Given the description of an element on the screen output the (x, y) to click on. 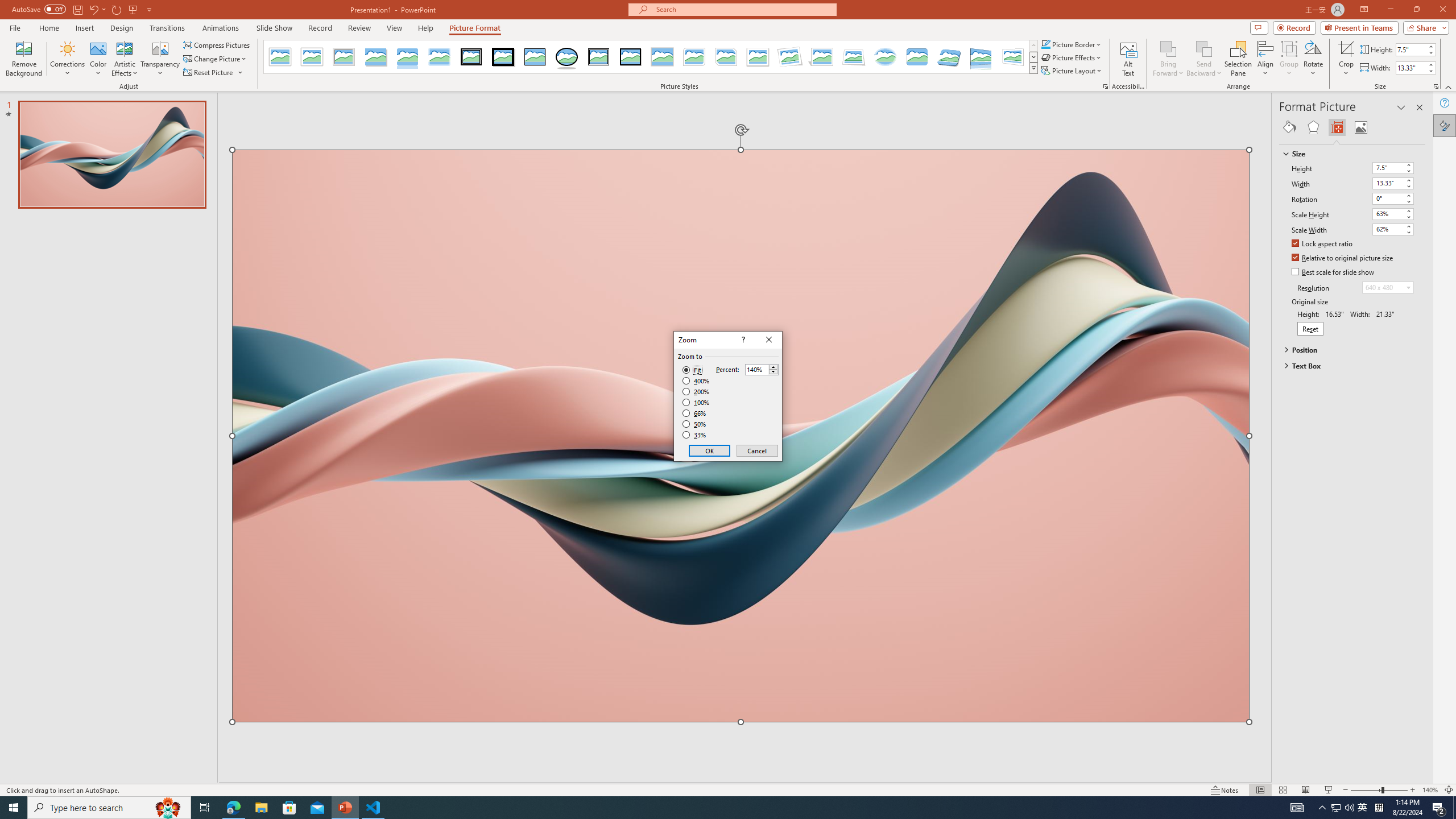
Double Frame, Black (471, 56)
Picture Border (1071, 44)
Change Picture (216, 58)
Relative to original picture size (1342, 258)
Picture Format (475, 28)
Position (1347, 349)
Group (1288, 58)
Rounded Diagonal Corner, White (694, 56)
Size & Properties (1336, 126)
Snip Diagonal Corner, White (726, 56)
